Given the description of an element on the screen output the (x, y) to click on. 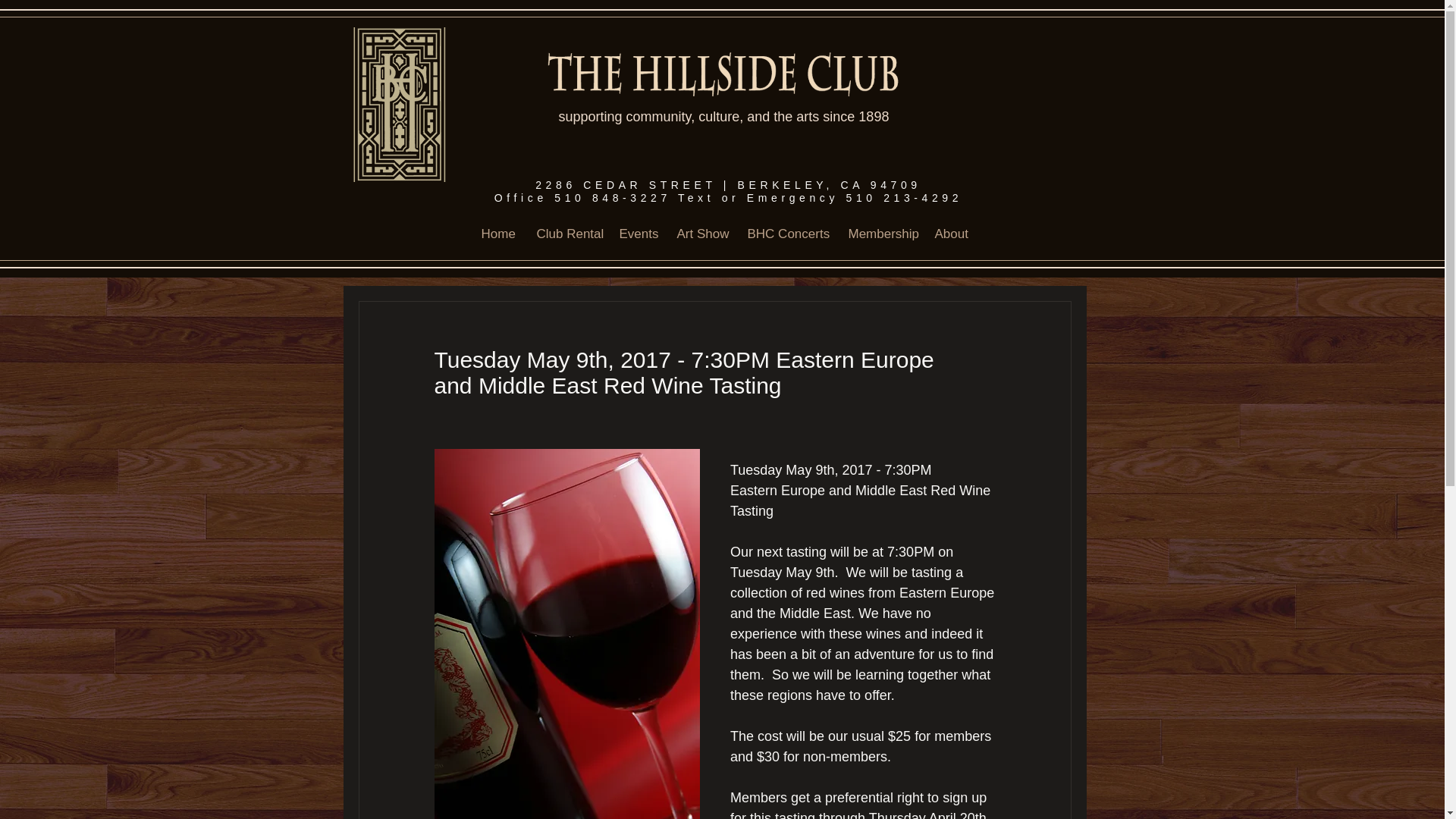
Club Rental (565, 233)
BHC Concerts (785, 233)
Art Show (699, 233)
Events (635, 233)
Membership (878, 233)
About (948, 233)
Home (496, 233)
